Given the description of an element on the screen output the (x, y) to click on. 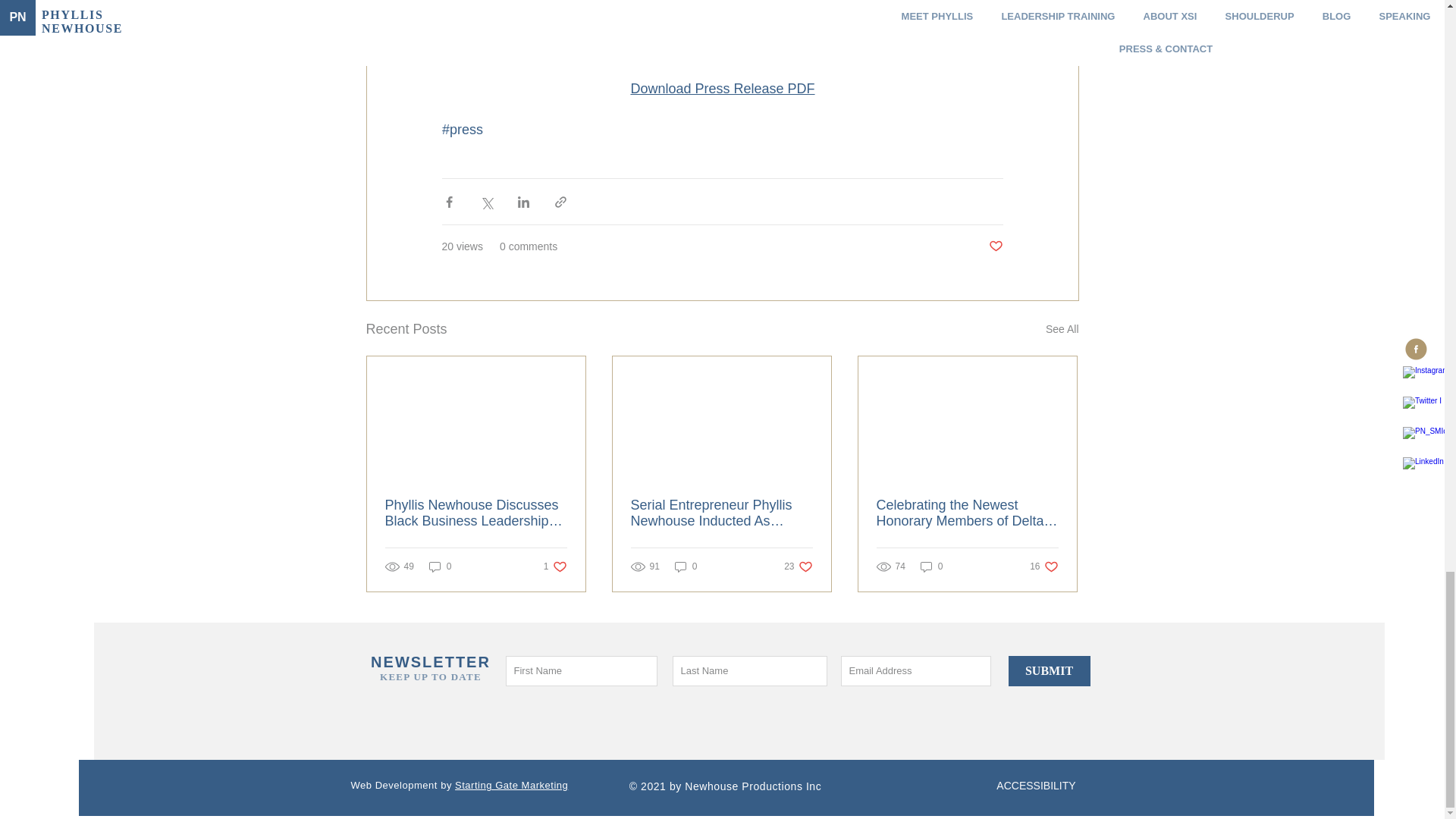
Download Press Release PDF (721, 88)
